Given the description of an element on the screen output the (x, y) to click on. 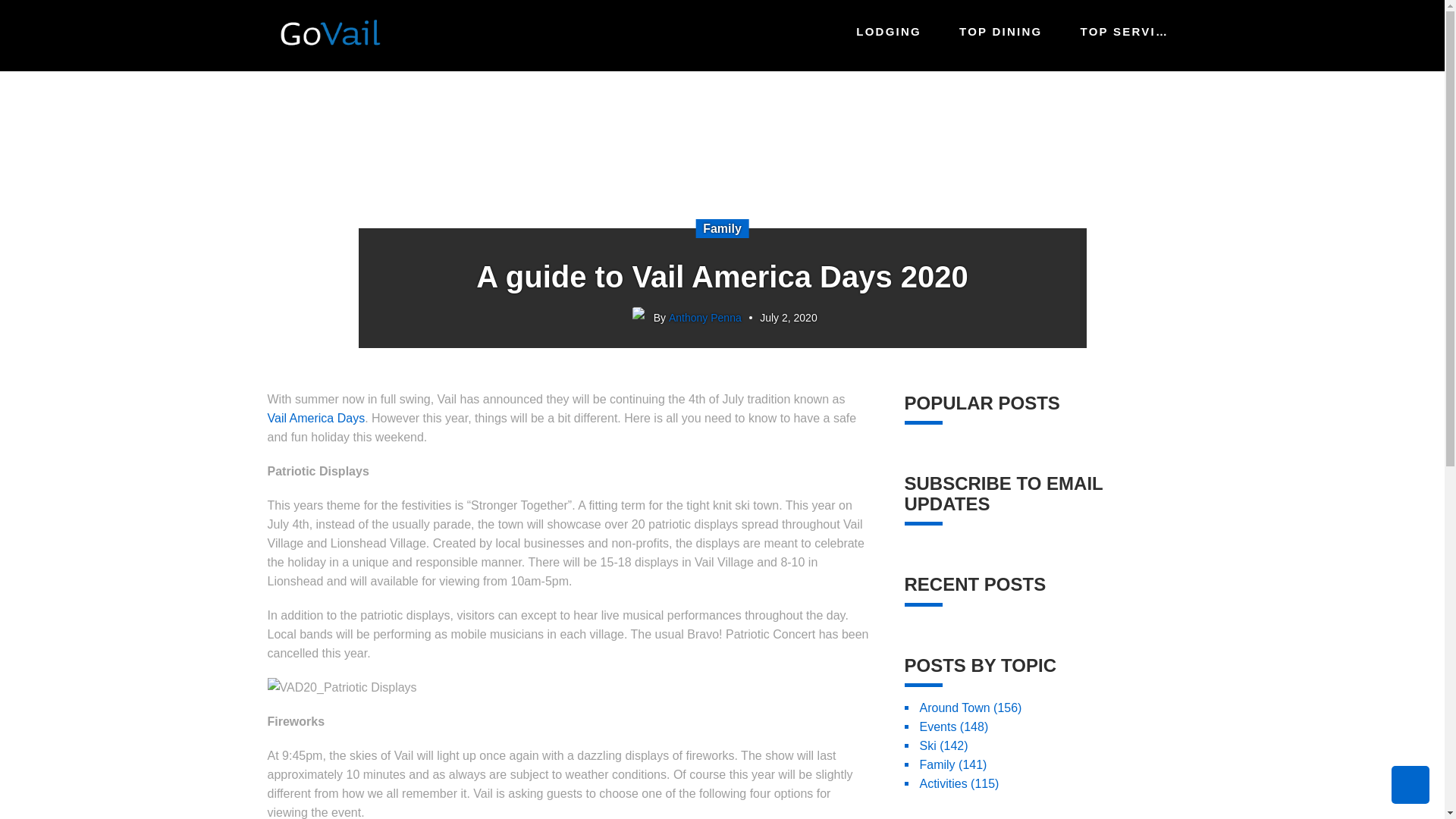
Back to top (1410, 784)
facebook (277, 681)
TOP DINING (999, 32)
Anthony Penna (704, 316)
govail-nocom.png (327, 32)
TOP SERVICES (1123, 32)
LODGING (887, 32)
